Given the description of an element on the screen output the (x, y) to click on. 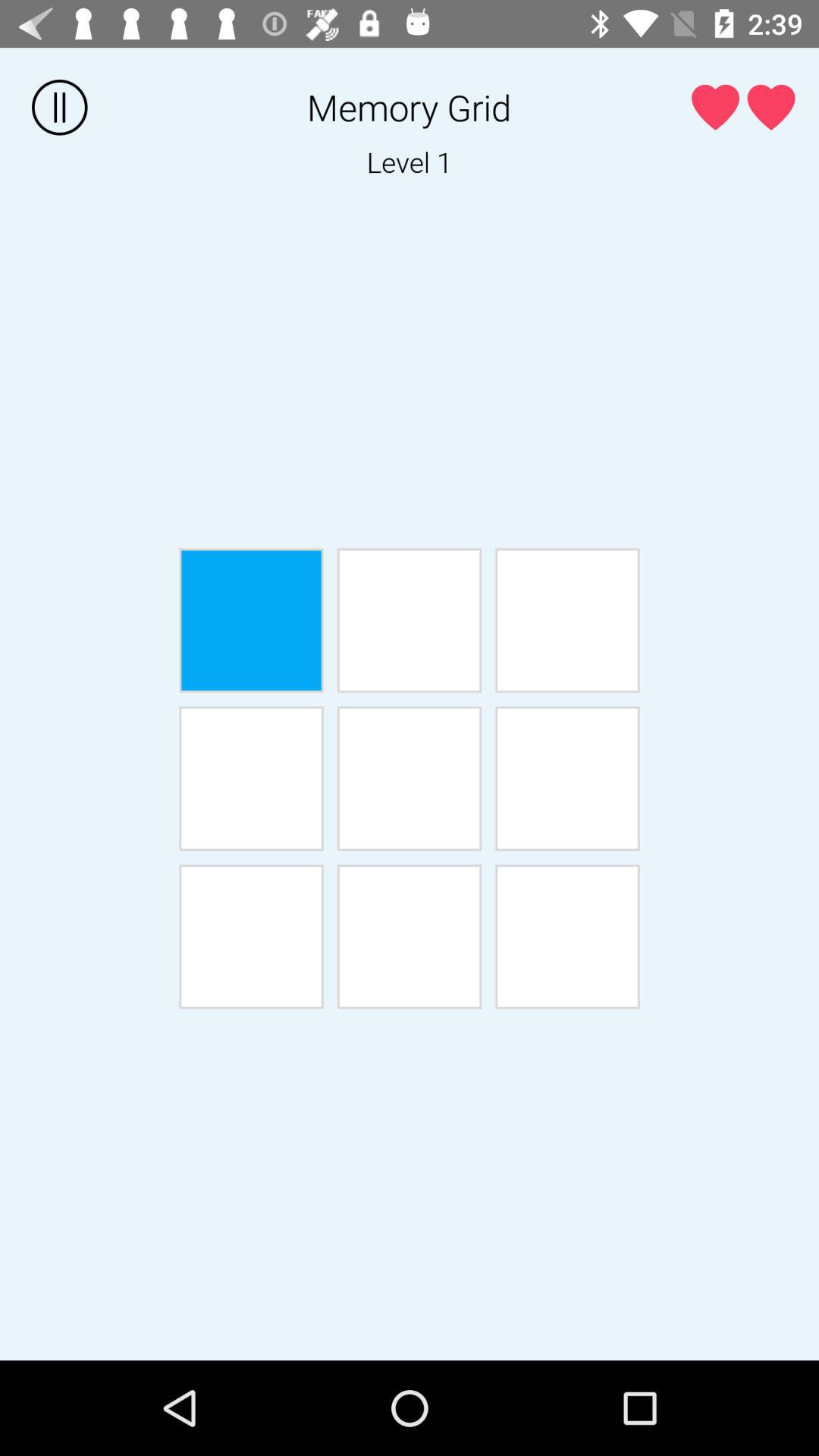
click the icon below level 1 icon (567, 620)
